Given the description of an element on the screen output the (x, y) to click on. 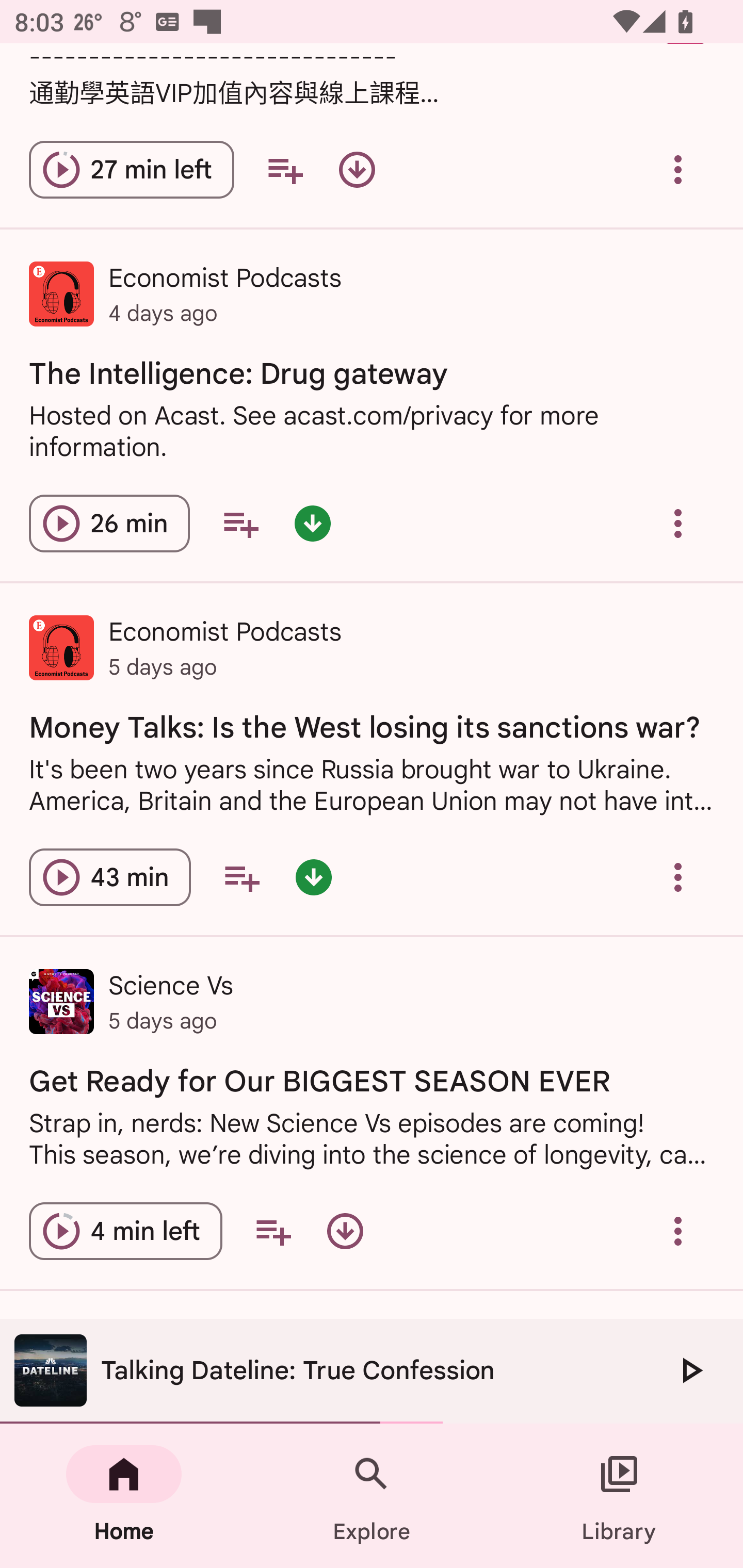
Add to your queue (284, 170)
Download episode (356, 170)
Overflow menu (677, 170)
Play episode The Intelligence: Drug gateway 26 min (109, 523)
Add to your queue (240, 523)
Episode downloaded - double tap for options (312, 523)
Overflow menu (677, 523)
Add to your queue (241, 877)
Episode downloaded - double tap for options (313, 877)
Overflow menu (677, 877)
Add to your queue (273, 1231)
Download episode (345, 1231)
Overflow menu (677, 1231)
Play (690, 1370)
Explore (371, 1495)
Library (619, 1495)
